Given the description of an element on the screen output the (x, y) to click on. 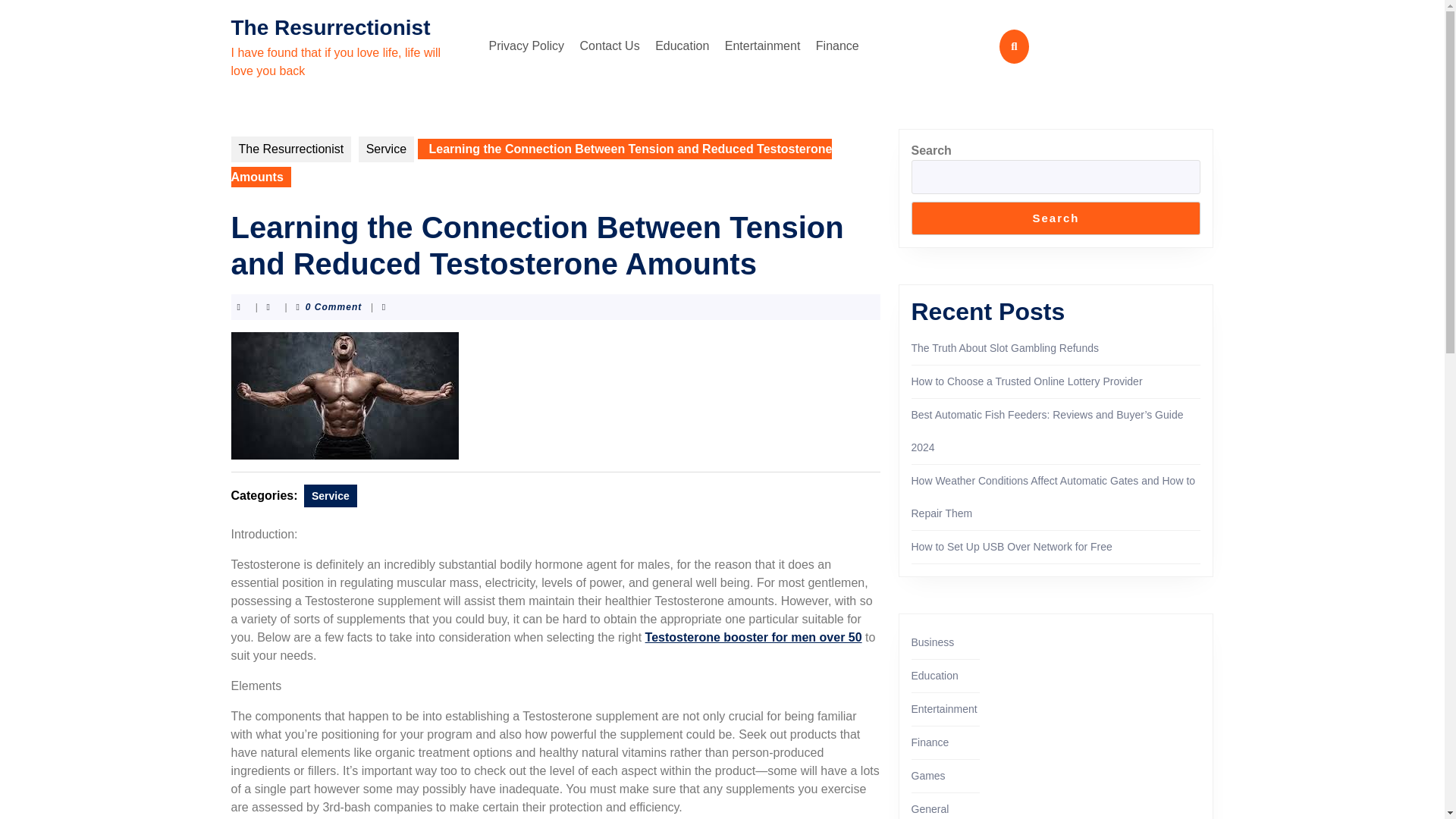
Service (385, 149)
Education (681, 46)
Contact Us (609, 46)
Entertainment (943, 708)
The Resurrectionist (290, 149)
How to Set Up USB Over Network for Free (1011, 546)
Service (330, 495)
Finance (836, 46)
Entertainment (762, 46)
